Given the description of an element on the screen output the (x, y) to click on. 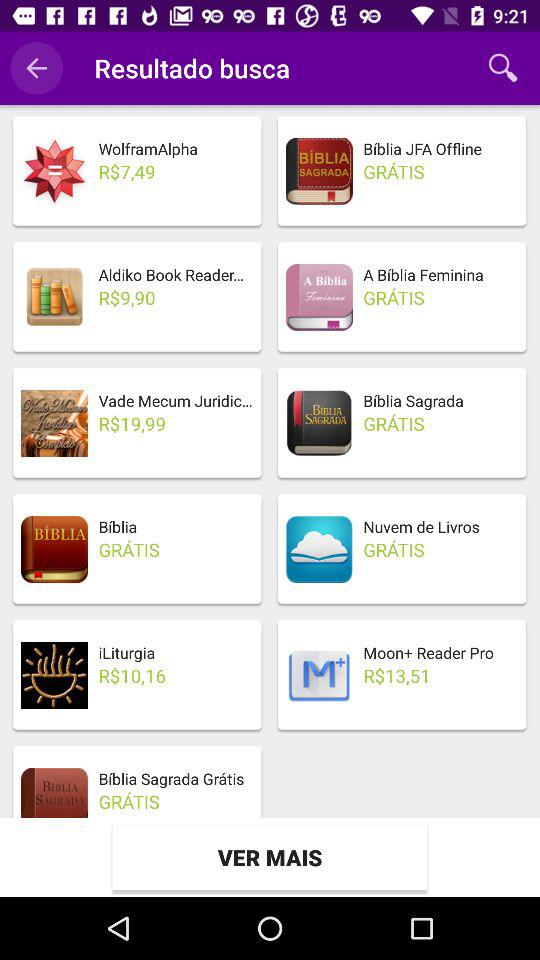
click item next to resultado busca item (36, 68)
